Given the description of an element on the screen output the (x, y) to click on. 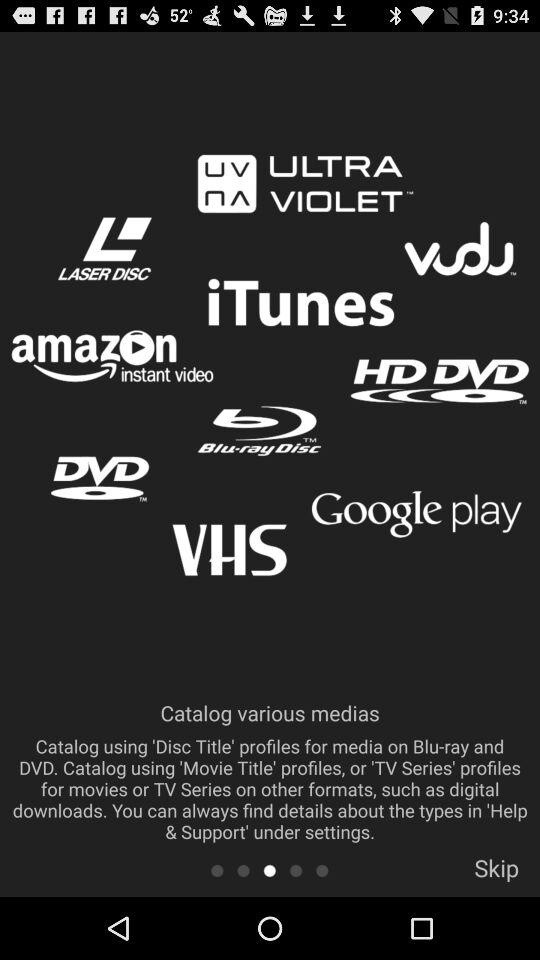
turn off app below the catalog various medias icon (243, 870)
